Given the description of an element on the screen output the (x, y) to click on. 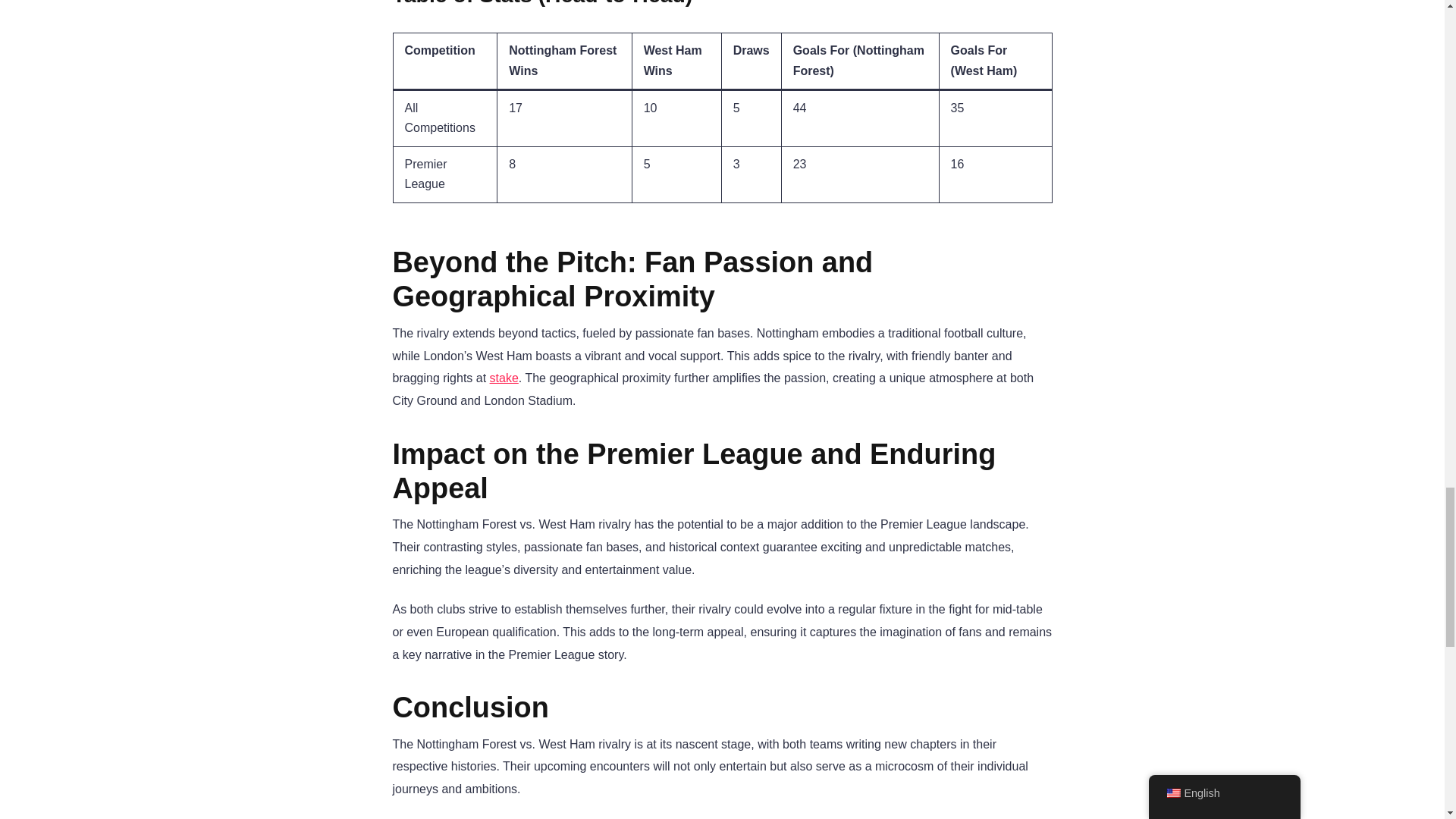
stake (503, 377)
